Given the description of an element on the screen output the (x, y) to click on. 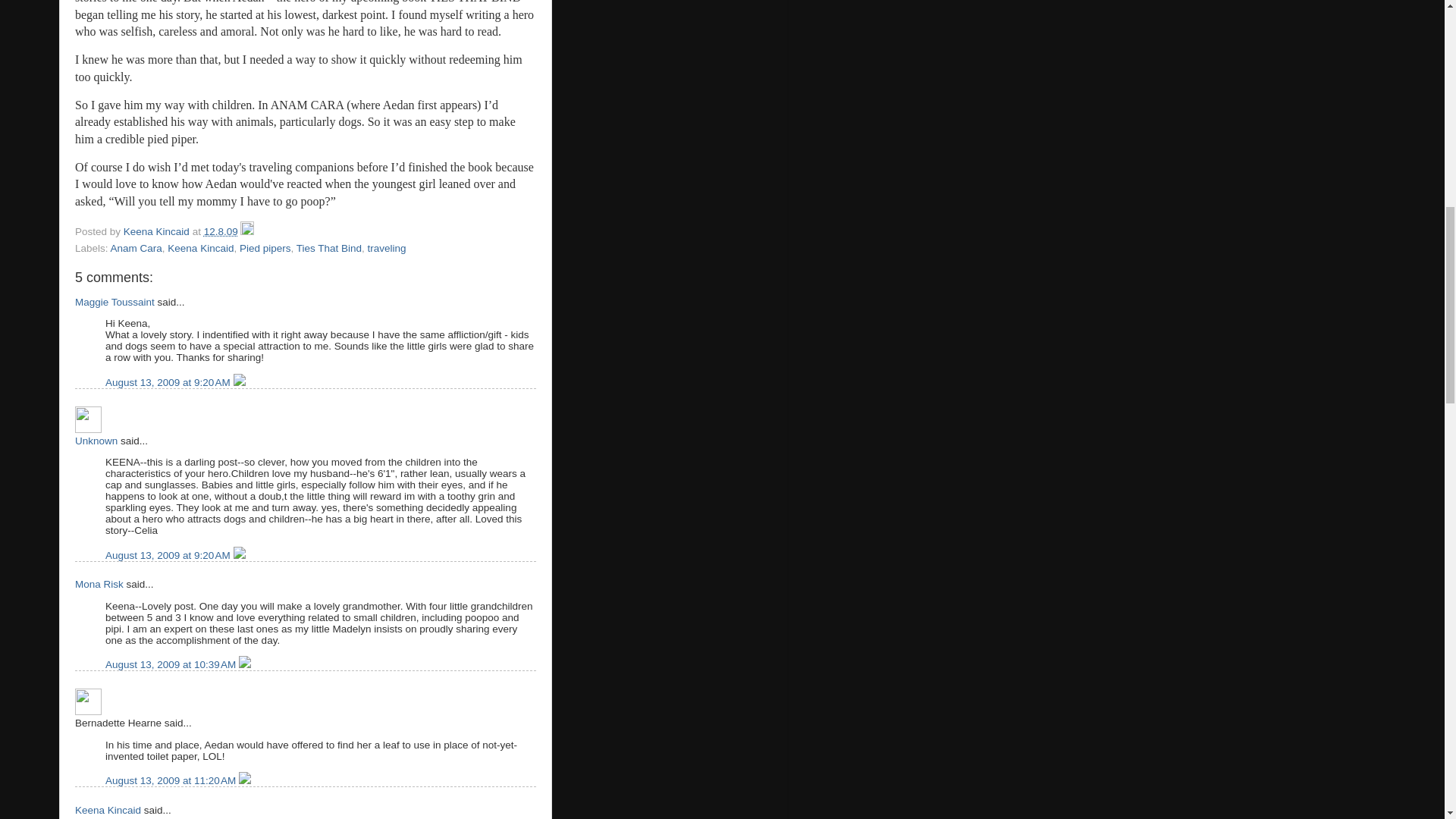
Bernadette Hearne (88, 701)
comment permalink (168, 382)
Delete Comment (239, 382)
Maggie Toussaint (114, 301)
author profile (157, 231)
Keena Kincaid (157, 231)
comment permalink (168, 555)
Edit Post (246, 231)
12.8.09 (220, 231)
Ties That Bind (329, 247)
Keena Kincaid (108, 809)
Keena Kincaid (199, 247)
Delete Comment (239, 555)
